Given the description of an element on the screen output the (x, y) to click on. 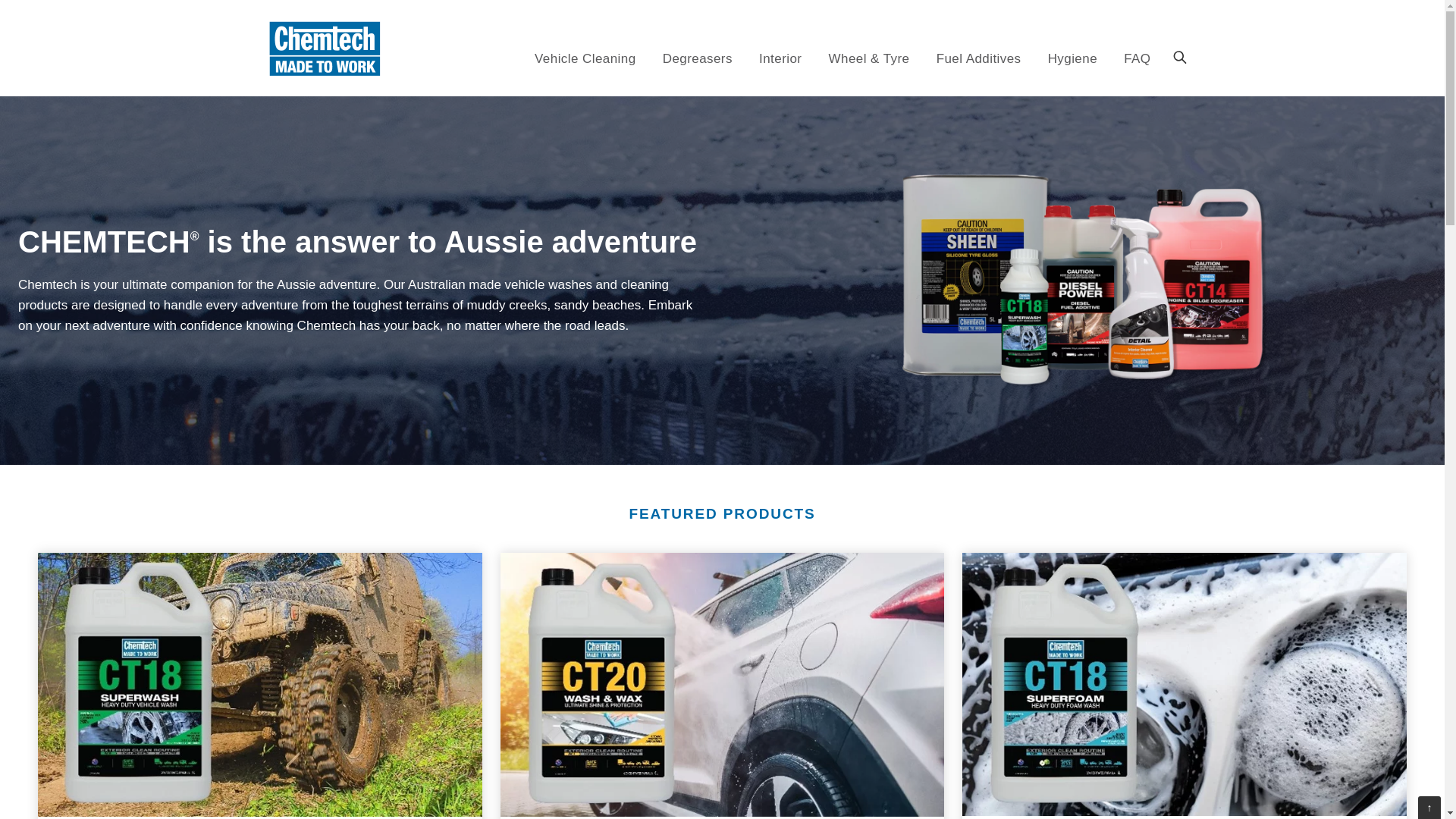
Skip to content (853, 51)
Degreasers (697, 59)
FAQ (1137, 59)
Interior (780, 59)
Fuel Additives (979, 59)
Vehicle Cleaning (585, 59)
Hygiene (1072, 59)
Skip to content (853, 51)
